Given the description of an element on the screen output the (x, y) to click on. 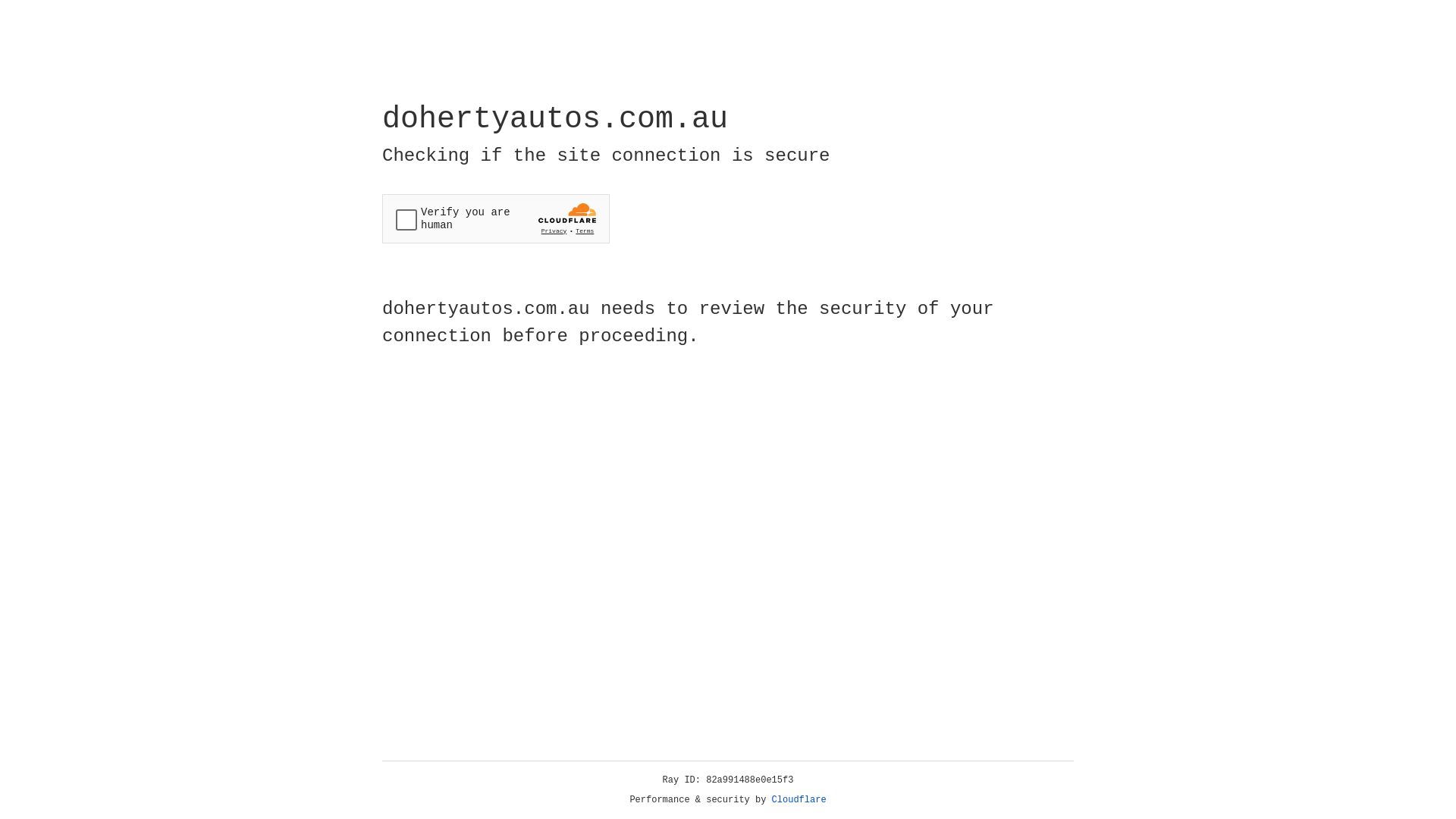
Widget containing a Cloudflare security challenge Element type: hover (495, 218)
Cloudflare Element type: text (798, 799)
